Given the description of an element on the screen output the (x, y) to click on. 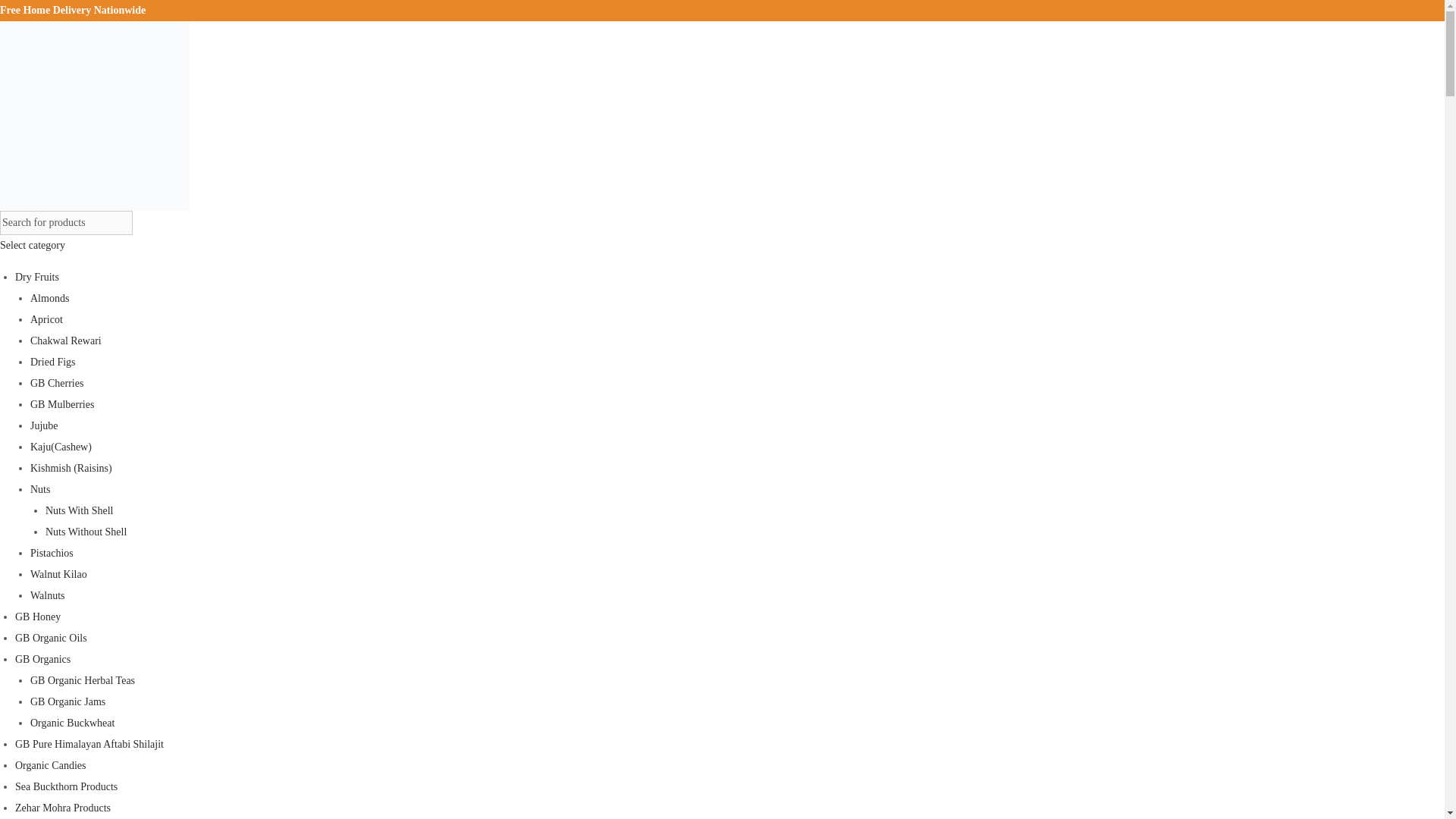
Sea Buckthorn Products (65, 786)
Search for products (66, 222)
Organic Buckwheat (72, 722)
Dried Figs (52, 361)
GB Pure Himalayan Aftabi Shilajit (88, 744)
Chakwal Rewari (65, 340)
Apricot (46, 319)
GB Cherries (56, 383)
Walnuts (47, 595)
GB Organic Herbal Teas (82, 680)
